Given the description of an element on the screen output the (x, y) to click on. 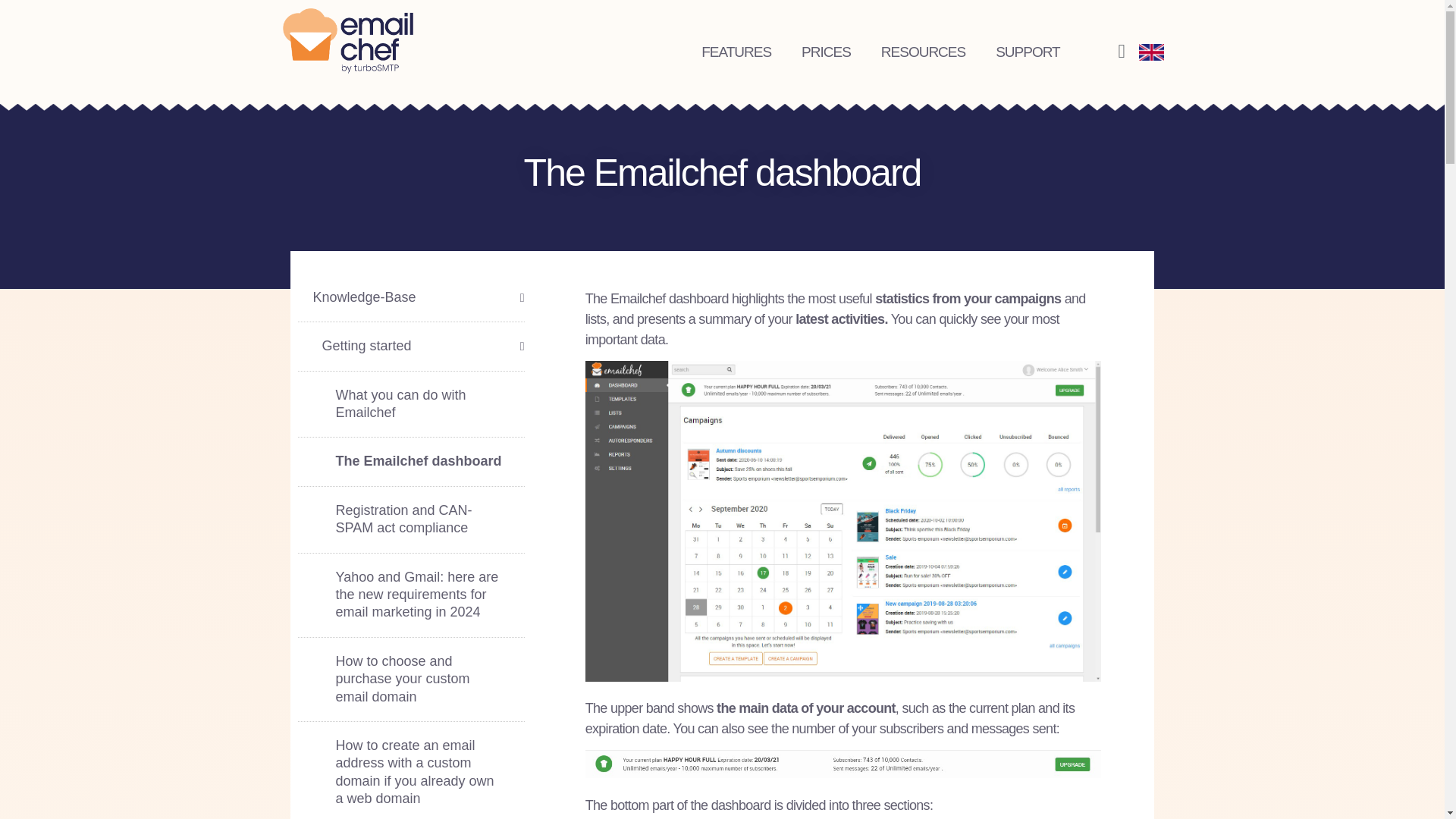
RESOURCES (922, 51)
Registration and CAN-SPAM act compliance (410, 519)
SUPPORT (1027, 51)
Knowledge-Base (410, 297)
The Emailchef dashboard (410, 461)
What you can do with Emailchef (410, 404)
Getting started (410, 346)
How to choose and purchase your custom email domain (410, 679)
PRICES (826, 51)
FEATURES (735, 51)
